Given the description of an element on the screen output the (x, y) to click on. 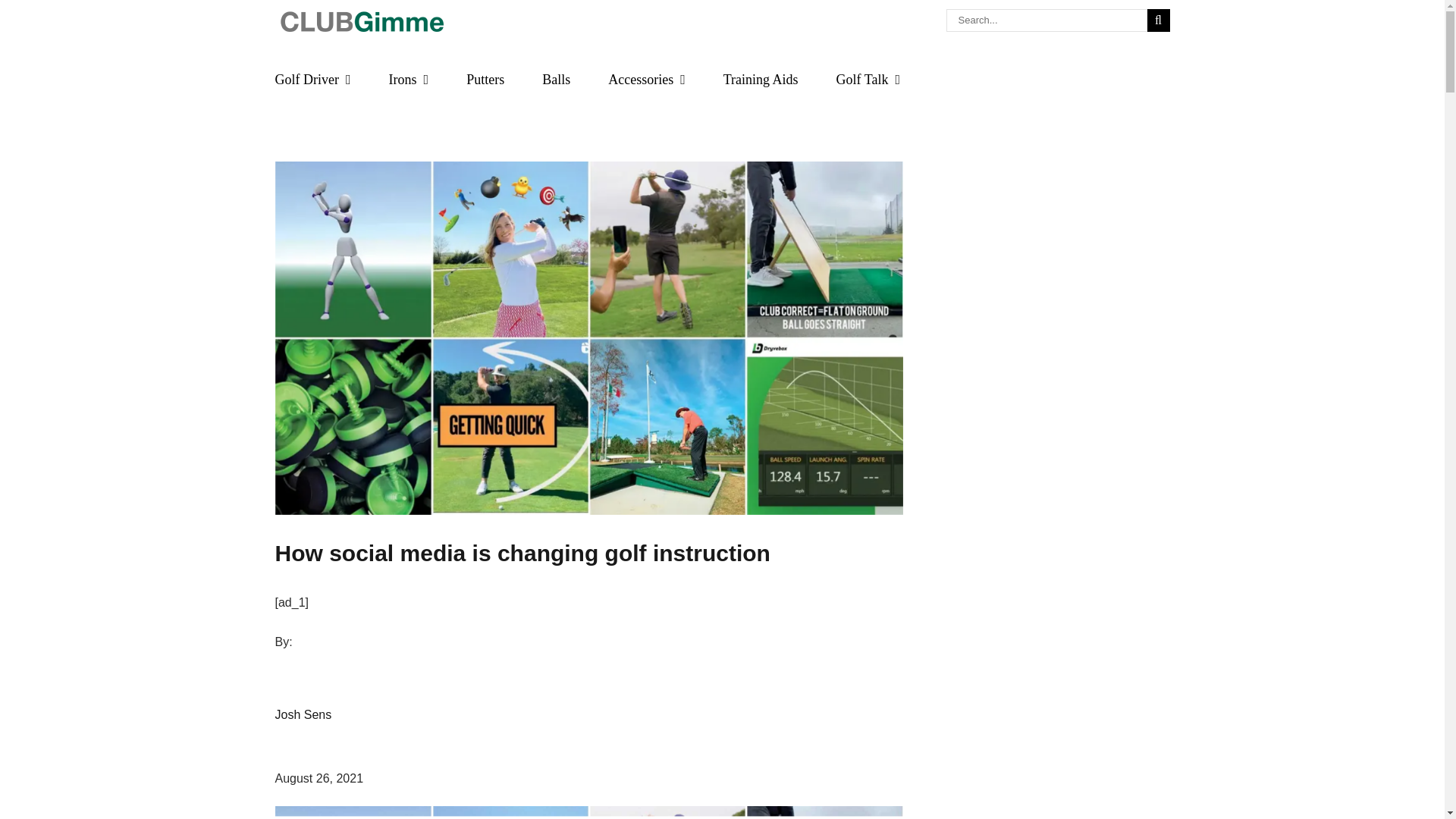
Golf Driver (312, 79)
Josh Sens (303, 726)
Golf Talk (867, 79)
Search for: (721, 27)
Balls (555, 79)
Training Aids (760, 79)
Putters (484, 79)
Irons (408, 79)
